Given the description of an element on the screen output the (x, y) to click on. 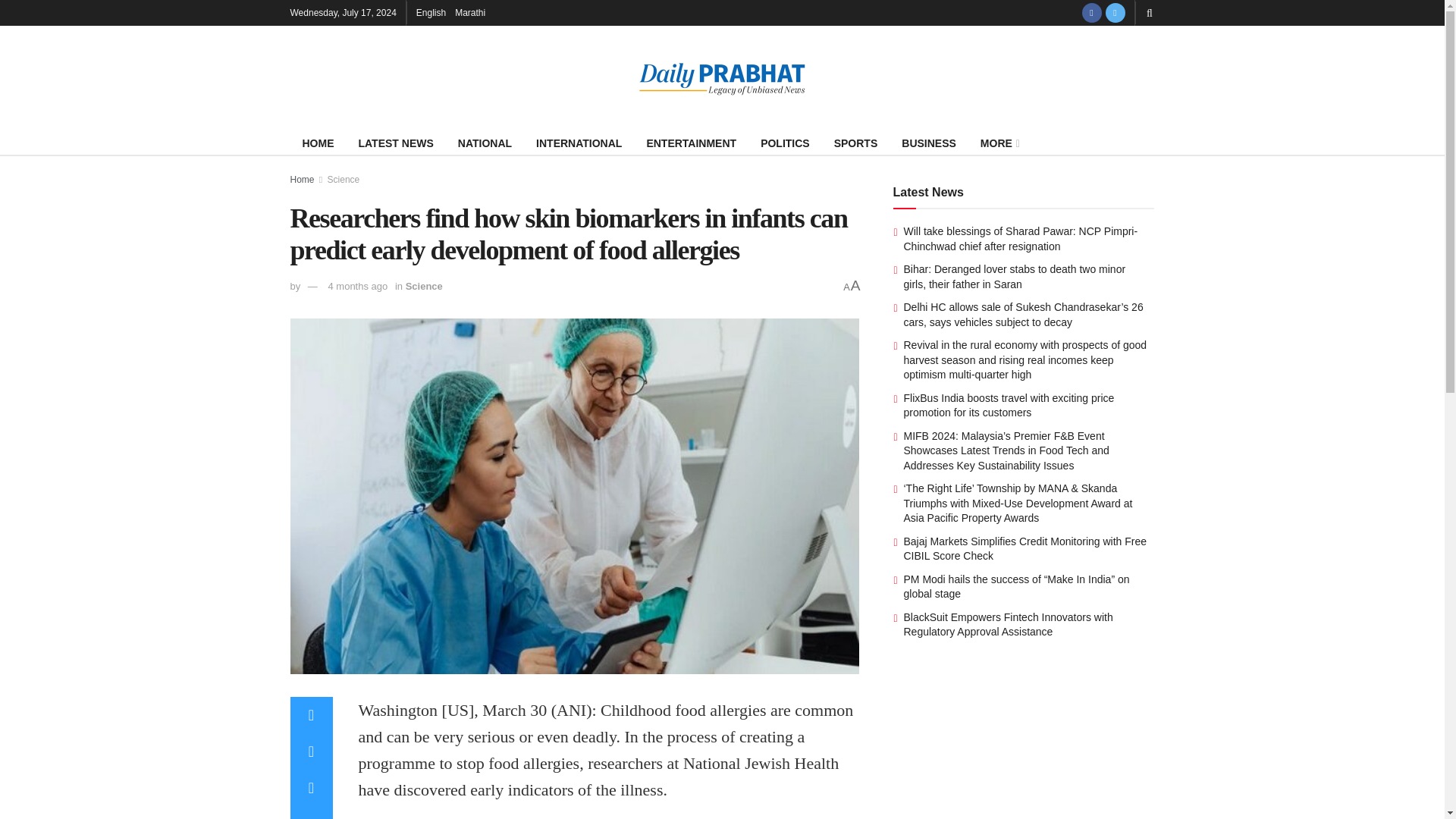
POLITICS (785, 142)
NATIONAL (484, 142)
4 months ago (357, 285)
Science (343, 179)
Home (301, 179)
INTERNATIONAL (578, 142)
Marathi (469, 12)
Science (424, 285)
ENTERTAINMENT (690, 142)
English (430, 12)
LATEST NEWS (395, 142)
MORE (998, 142)
SPORTS (855, 142)
Advertisement (1023, 748)
BUSINESS (928, 142)
